Given the description of an element on the screen output the (x, y) to click on. 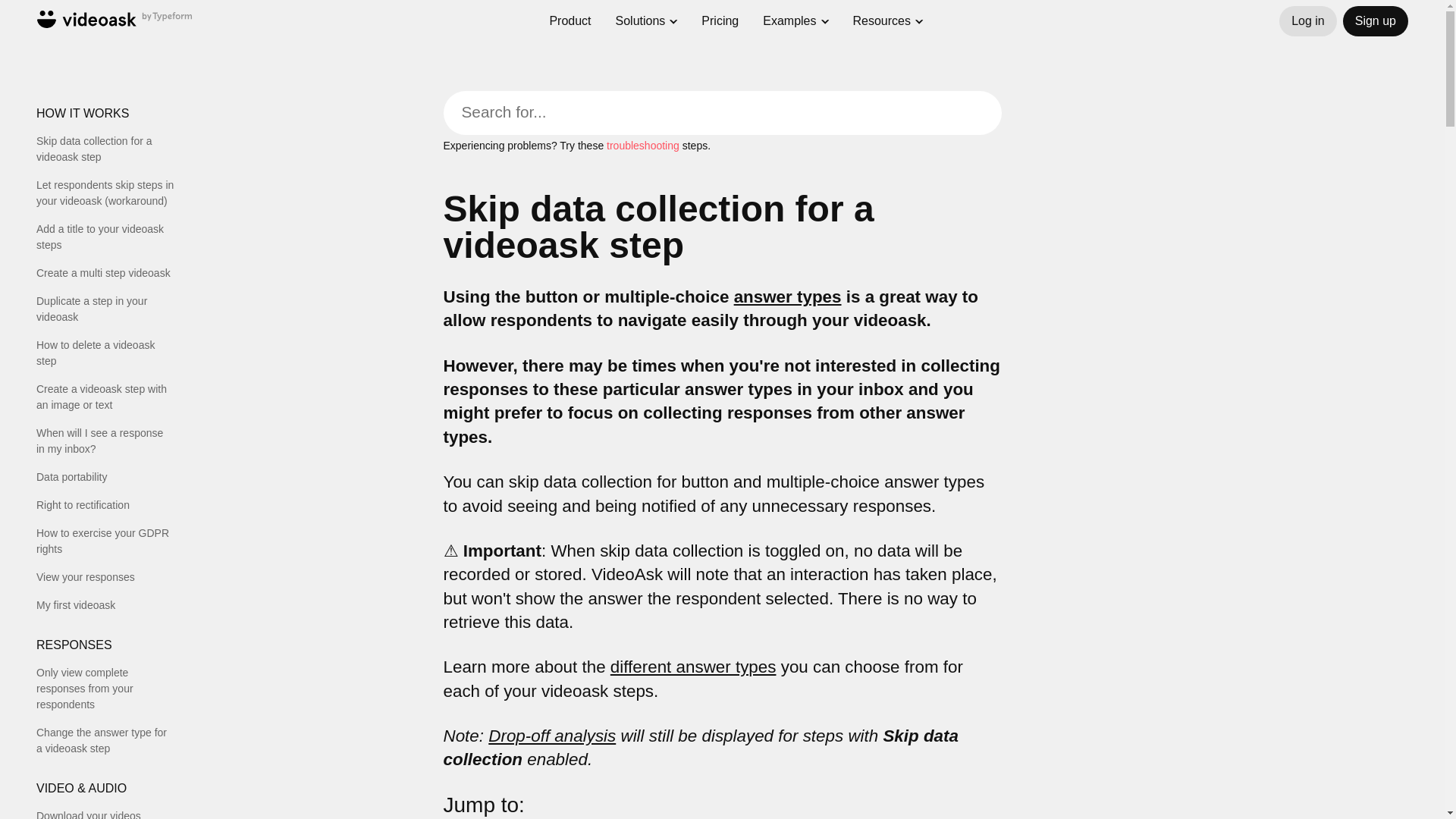
View your responses (105, 577)
Solutions (640, 6)
Sign up (1374, 20)
Pricing (719, 13)
Only view complete responses from your respondents (105, 688)
Data portability (105, 477)
Download your videos (105, 813)
Log in (1307, 20)
Examples (788, 14)
How to exercise your GDPR rights (105, 541)
My first videoask (105, 605)
Change the answer type for a videoask step (105, 740)
Resources (882, 18)
Skip data collection for a videoask step (105, 149)
How to delete a videoask step (105, 353)
